Given the description of an element on the screen output the (x, y) to click on. 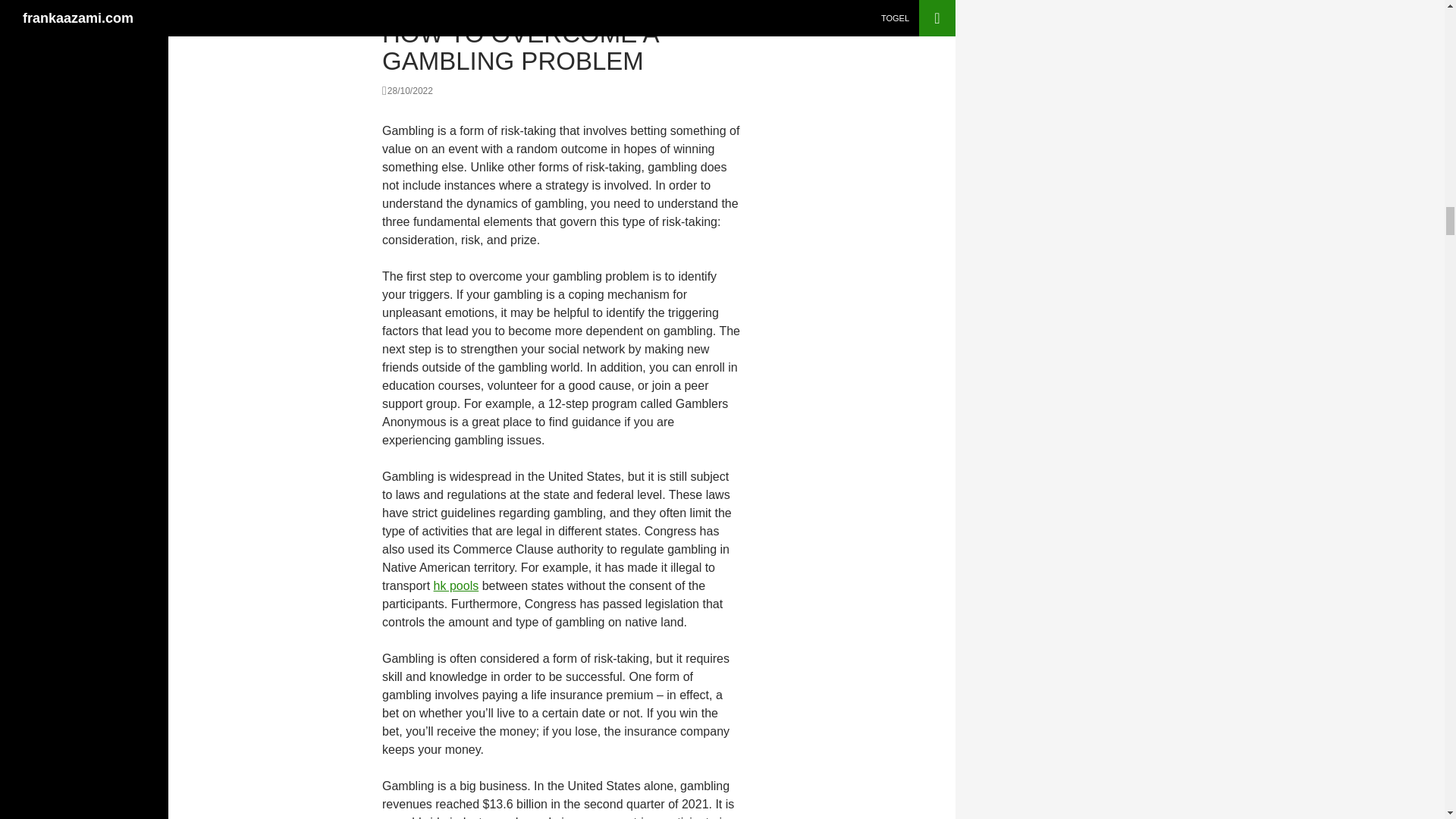
ONLINE GAMBLING (424, 7)
HOW TO OVERCOME A GAMBLING PROBLEM (519, 47)
